Given the description of an element on the screen output the (x, y) to click on. 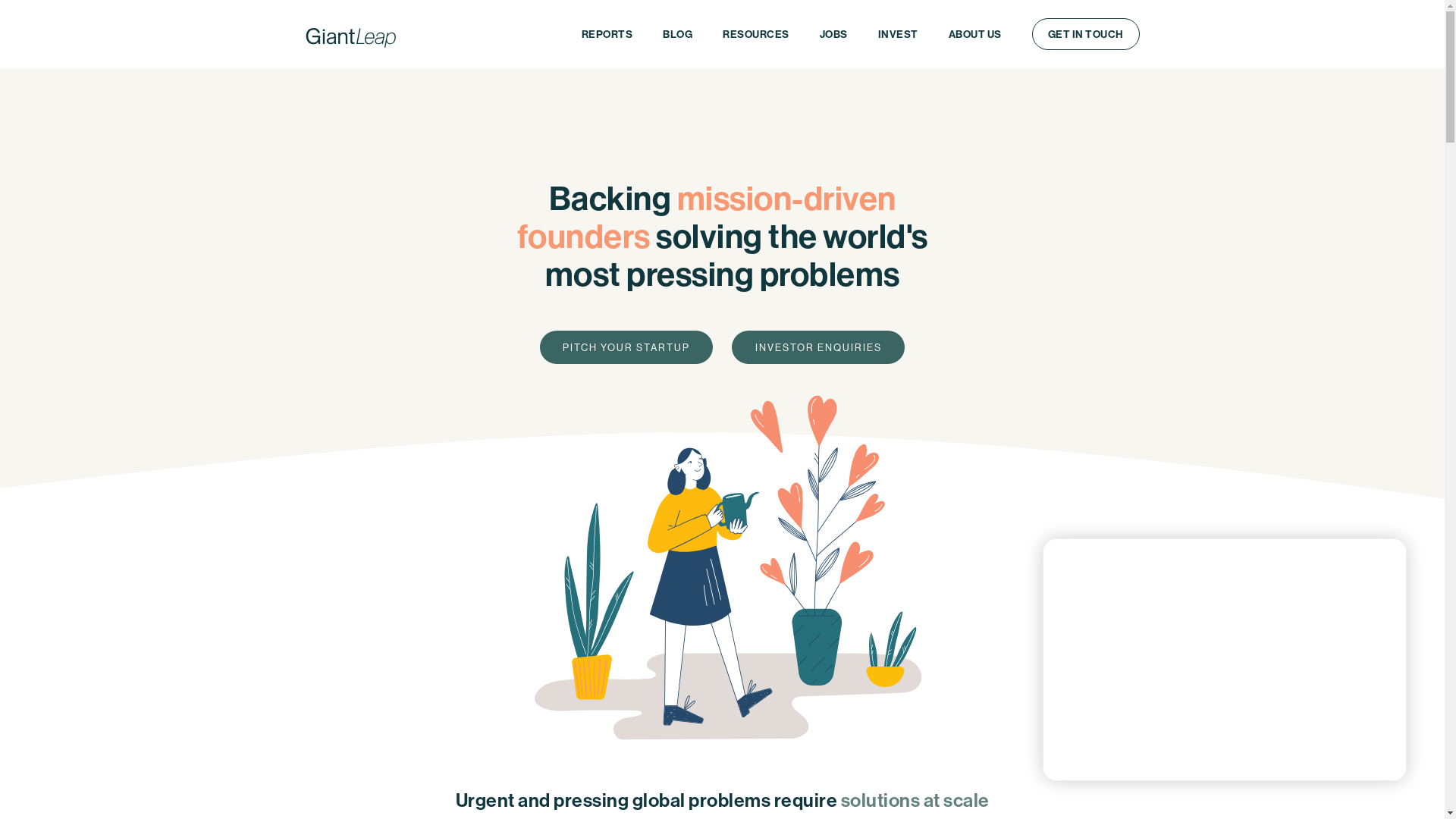
RESOURCES Element type: text (755, 34)
REPORTS Element type: text (606, 34)
GET IN TOUCH Element type: text (1085, 34)
INVESTOR ENQUIRIES Element type: text (817, 347)
BLOG Element type: text (677, 34)
INVEST Element type: text (897, 34)
PITCH YOUR STARTUP Element type: text (625, 347)
ABOUT US Element type: text (974, 34)
JOBS Element type: text (832, 34)
